Given the description of an element on the screen output the (x, y) to click on. 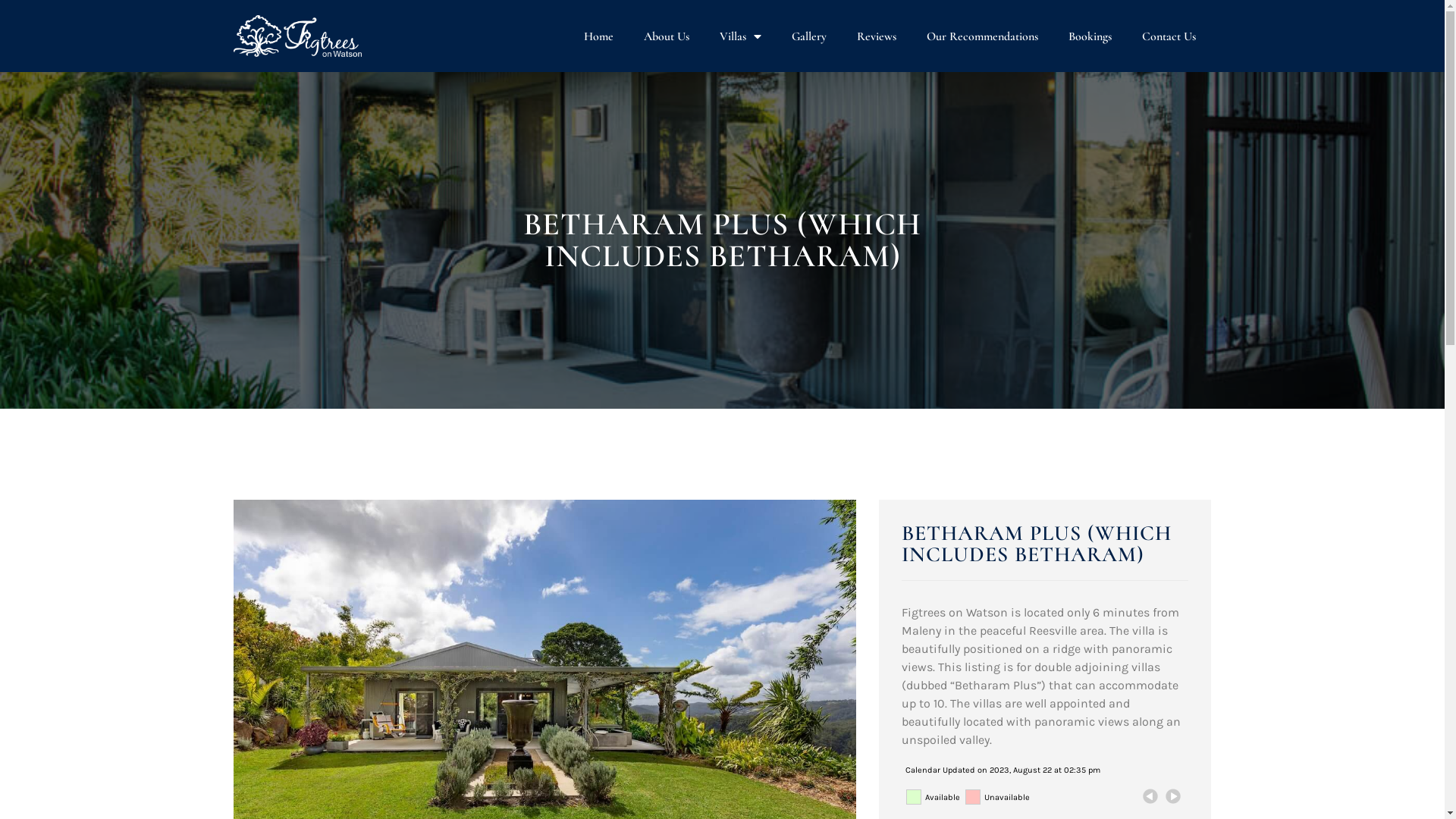
Bookings Element type: text (1089, 35)
Gallery Element type: text (808, 35)
Our Recommendations Element type: text (982, 35)
About Us Element type: text (666, 35)
Contact Us Element type: text (1168, 35)
  Element type: text (1172, 795)
Home Element type: text (598, 35)
  Element type: text (1150, 795)
Reviews Element type: text (876, 35)
Villas Element type: text (740, 35)
